Given the description of an element on the screen output the (x, y) to click on. 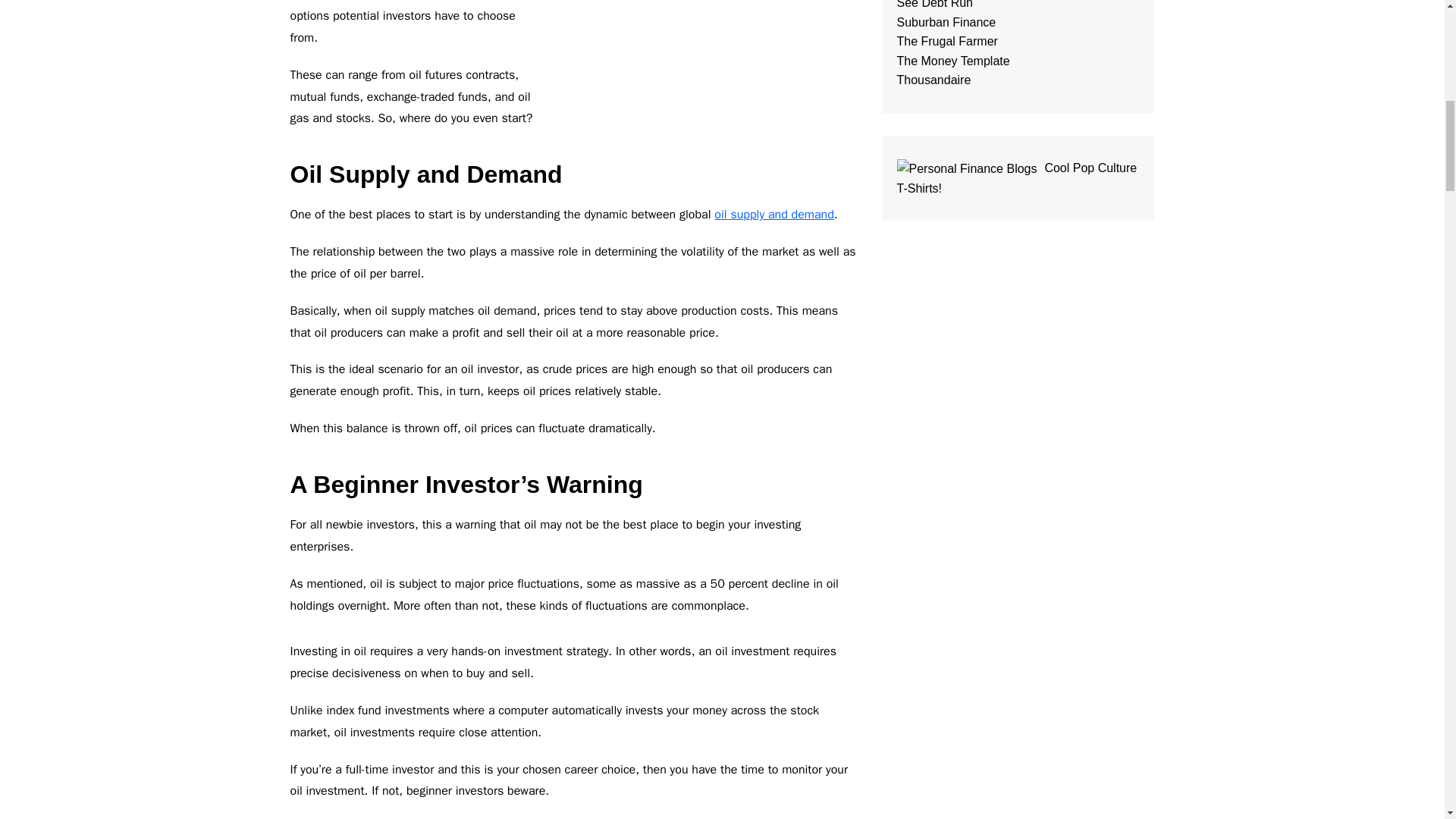
oil supply and demand (774, 214)
